Given the description of an element on the screen output the (x, y) to click on. 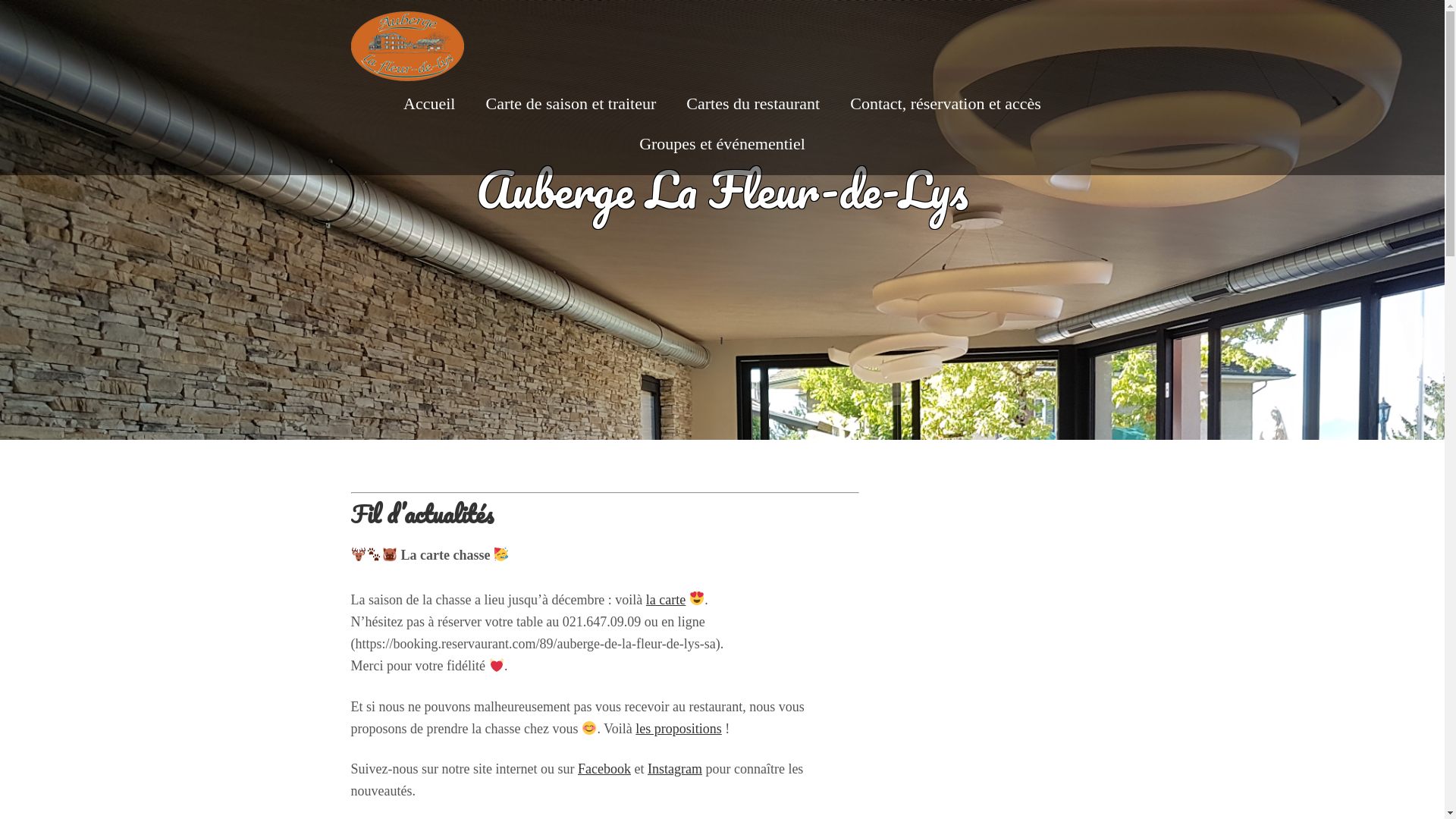
Carte de saison et traiteur Element type: text (570, 103)
Auberge La Fleur-de-Lys Element type: hover (406, 69)
Cartes du restaurant Element type: text (752, 103)
les propositions Element type: text (678, 728)
Accueil Element type: text (429, 103)
la carte Element type: text (665, 598)
Facebook Element type: text (603, 768)
Instagram Element type: text (674, 768)
